Given the description of an element on the screen output the (x, y) to click on. 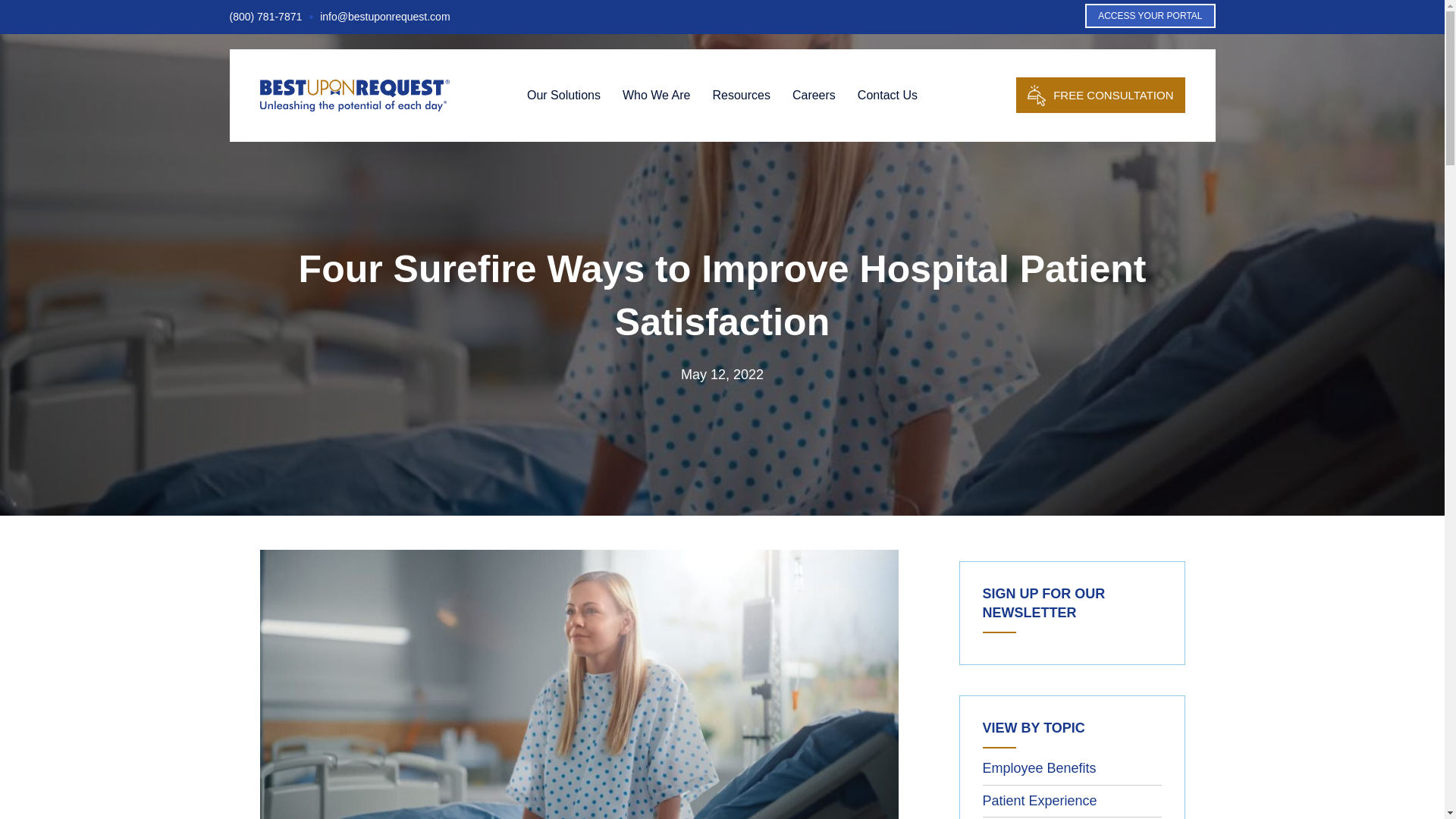
Patient Experience (1039, 800)
best-upon-request (353, 95)
Who We Are (656, 95)
FREE CONSULTATION (1100, 94)
Contact Us (887, 95)
Employee Benefits (1039, 767)
Our Solutions (563, 95)
Resources (740, 95)
ACCESS YOUR PORTAL (1149, 15)
Careers (813, 95)
